Given the description of an element on the screen output the (x, y) to click on. 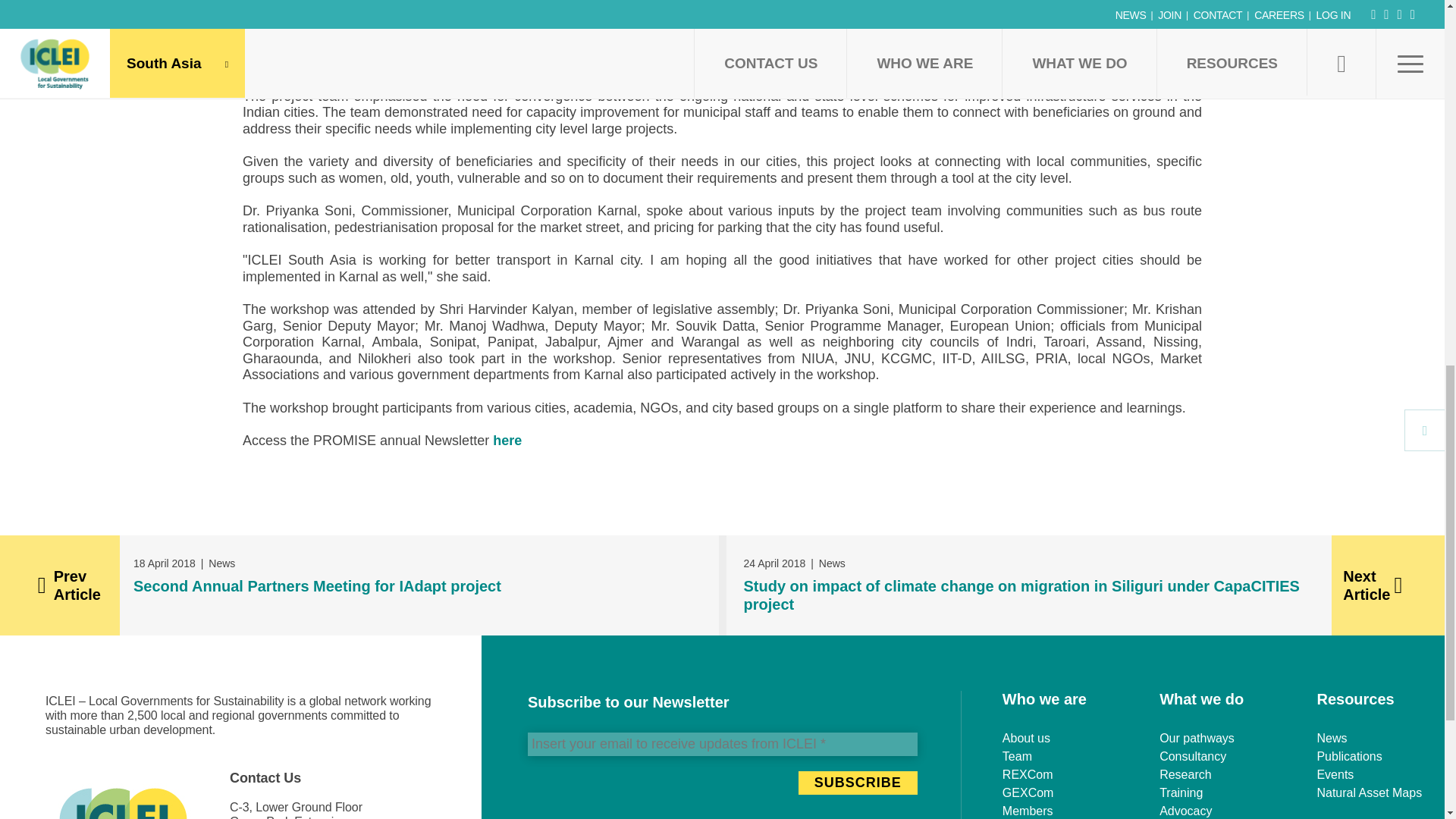
Opens external link in new window (507, 440)
Insert your email to receive updates from ICLEI (722, 743)
subscribe (857, 781)
